Given the description of an element on the screen output the (x, y) to click on. 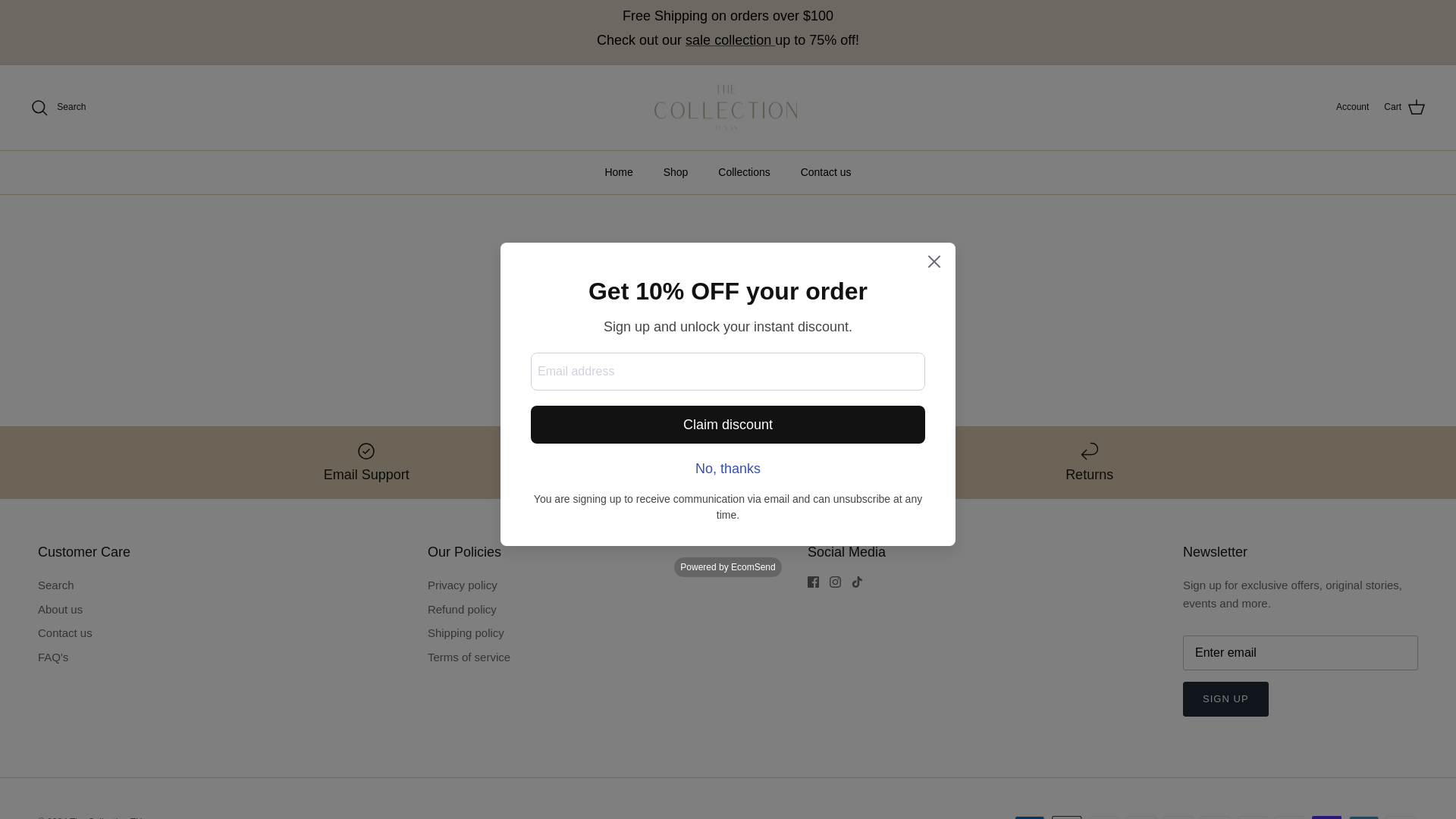
Apple Pay (1066, 817)
Cart (1404, 107)
The Collection TX  (727, 107)
Diners Club (1104, 817)
Sale (729, 39)
Account (1352, 106)
Home (618, 172)
sale collection (729, 39)
Shop (675, 172)
Meta Pay (1178, 817)
Visa (1400, 817)
Contact us (825, 172)
Collections (743, 172)
Discover (1140, 817)
Mastercard (1252, 817)
